Given the description of an element on the screen output the (x, y) to click on. 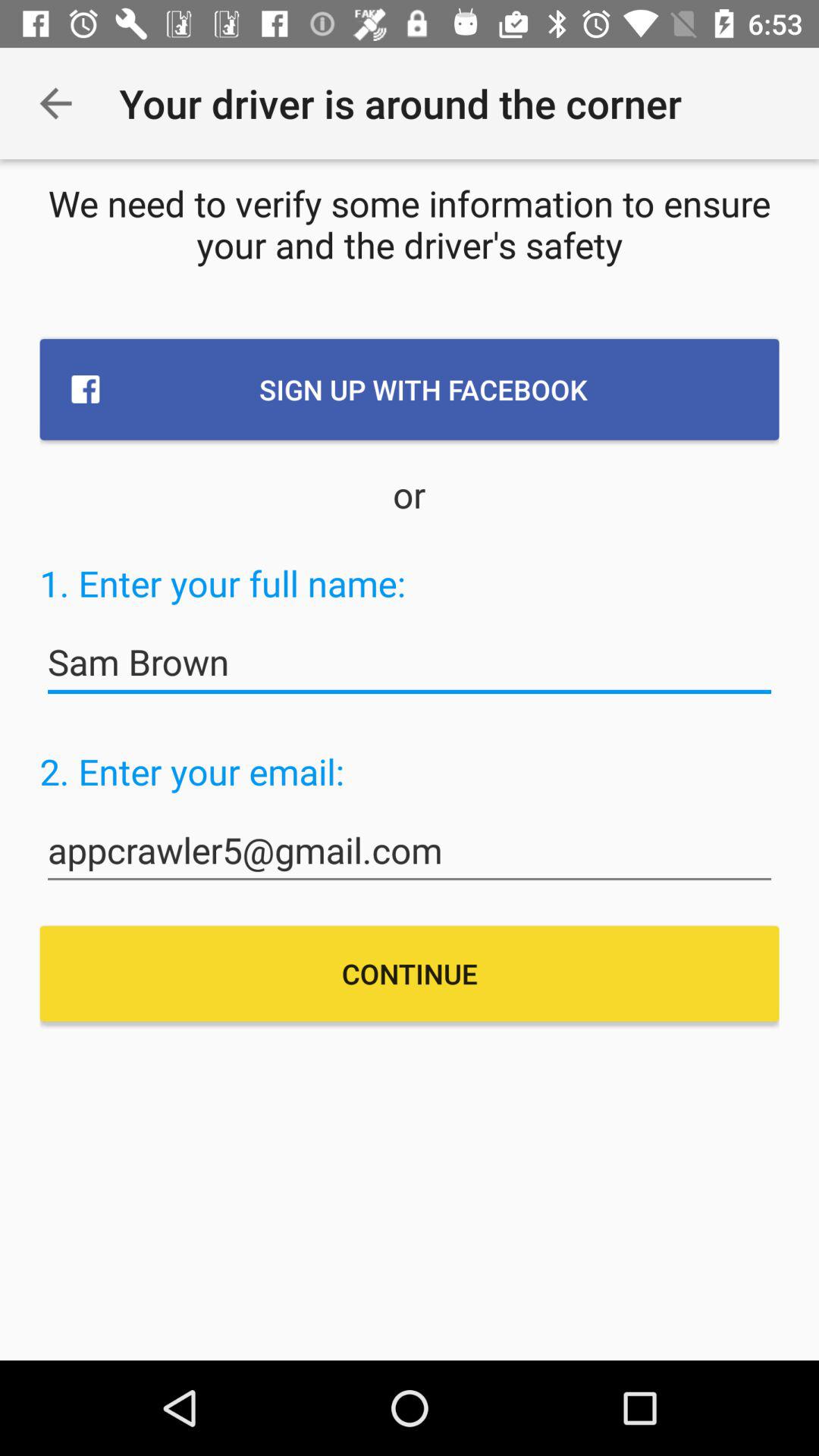
jump until sign up with item (409, 389)
